Given the description of an element on the screen output the (x, y) to click on. 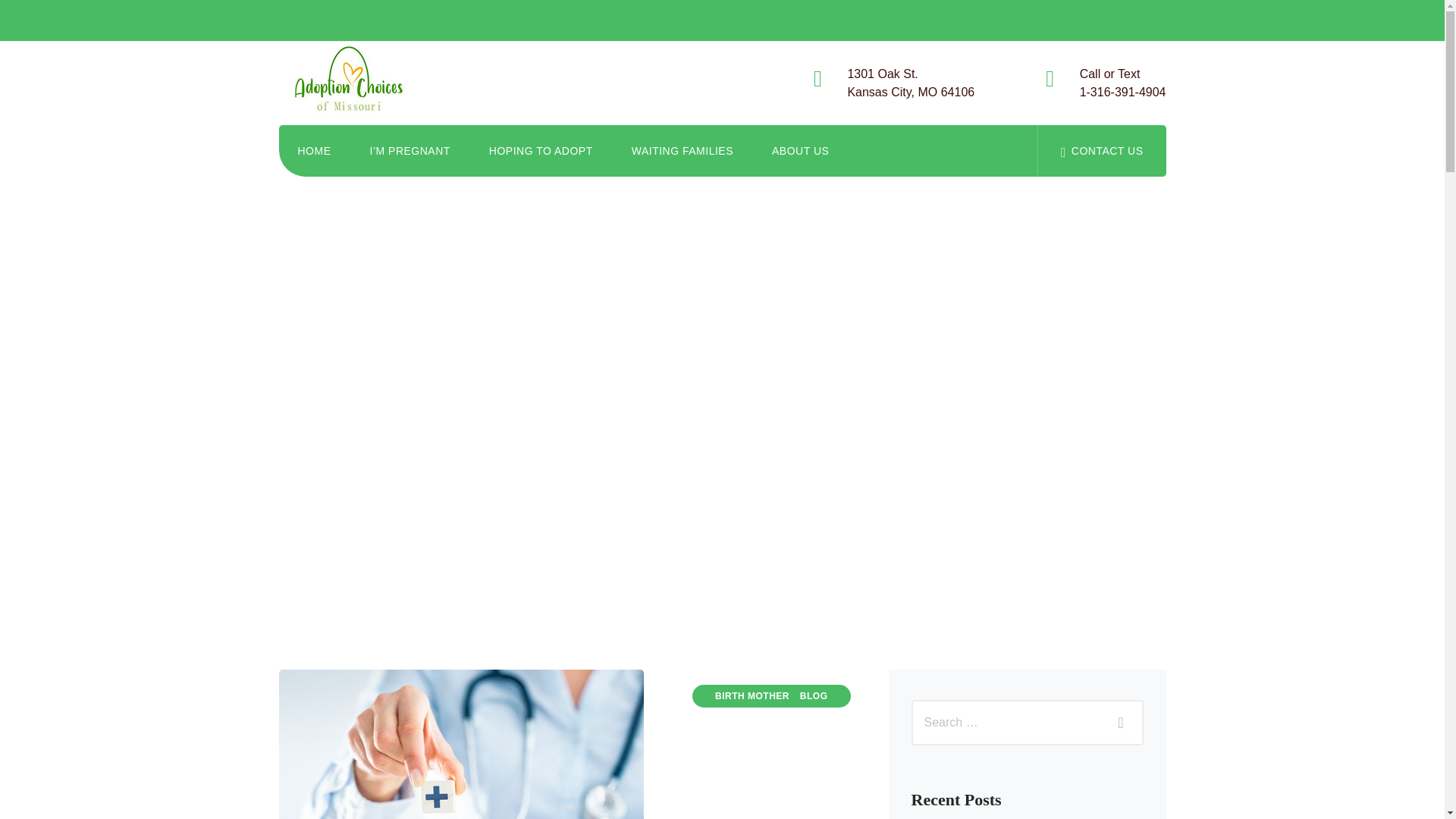
BLOG (813, 696)
HOPING TO ADOPT (540, 150)
Adoption Choices of Missouri (355, 82)
BIRTH MOTHER (752, 696)
CONTACT US (1101, 150)
ABOUT US (799, 150)
HOME (1123, 83)
WAITING FAMILIES (314, 150)
